Given the description of an element on the screen output the (x, y) to click on. 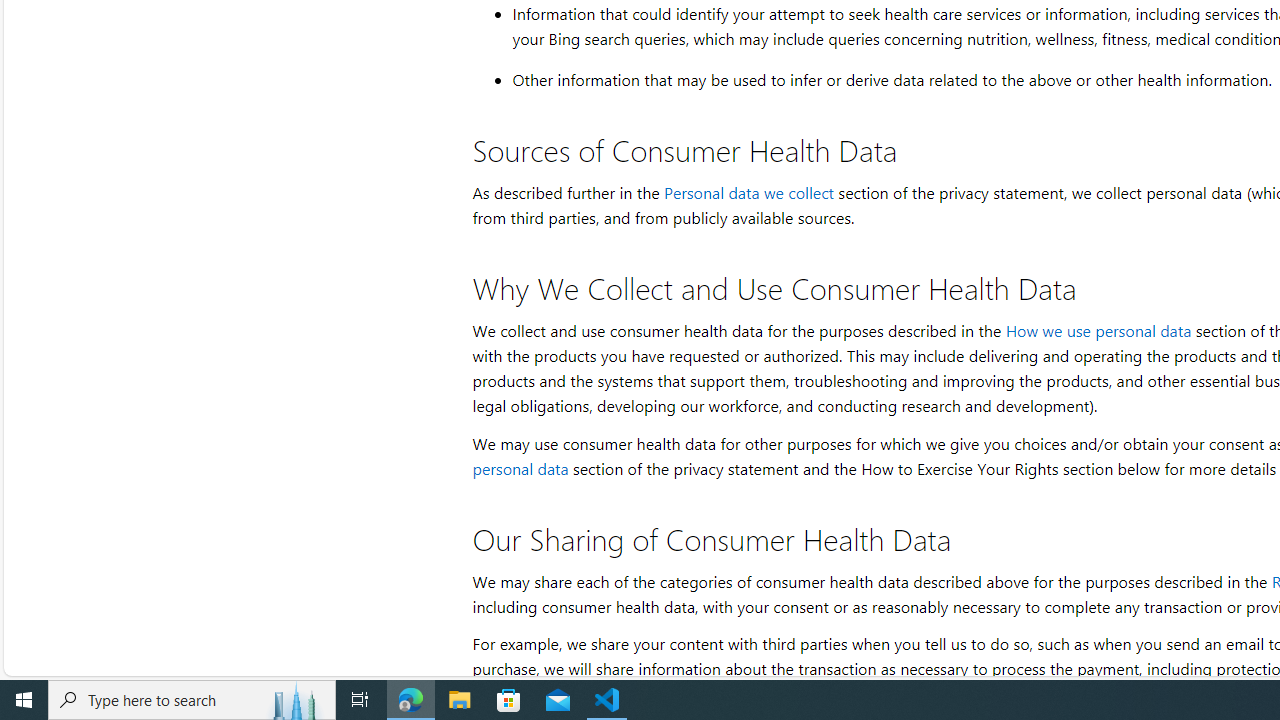
Personal data we collect (748, 192)
How we use personal data (1097, 330)
